Given the description of an element on the screen output the (x, y) to click on. 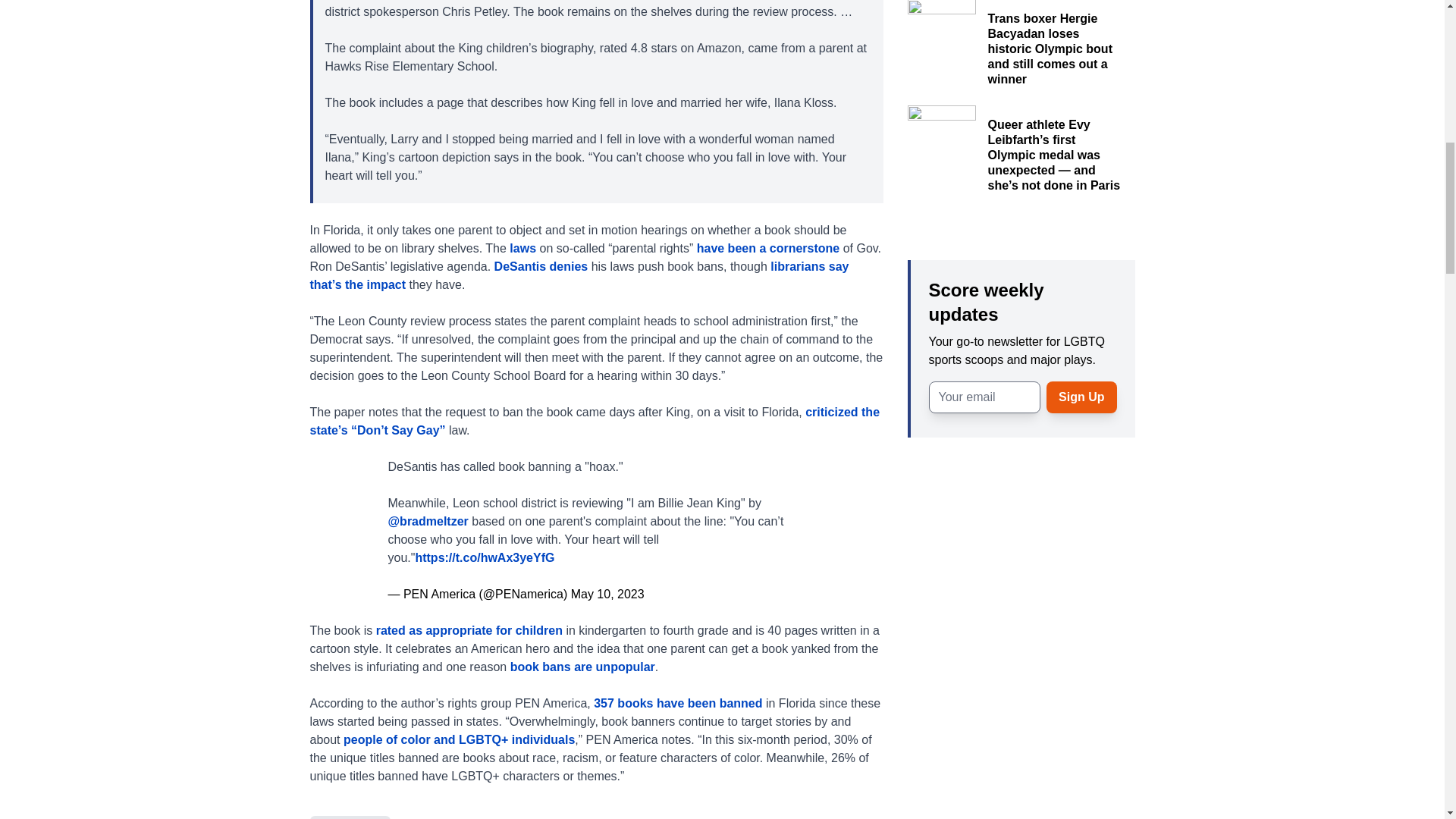
DeSantis denies (543, 265)
May 10, 2023 (607, 593)
have been a cornerstone (770, 246)
Homophobia (349, 817)
rated as appropriate for children (468, 629)
357 books have been banned (677, 702)
laws (522, 246)
book bans are unpopular (583, 666)
